Given the description of an element on the screen output the (x, y) to click on. 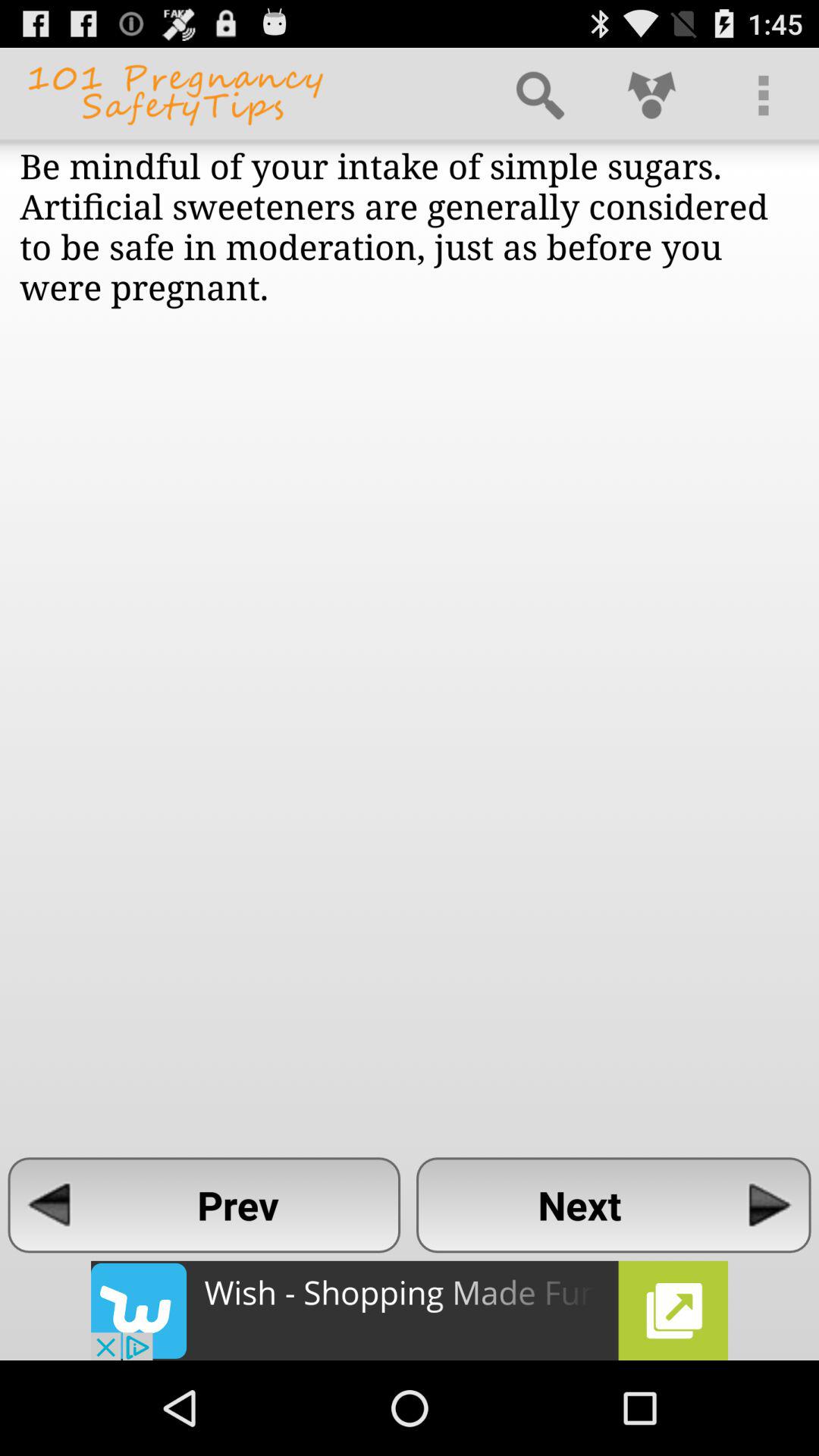
view the advertisement about an app (409, 1310)
